Given the description of an element on the screen output the (x, y) to click on. 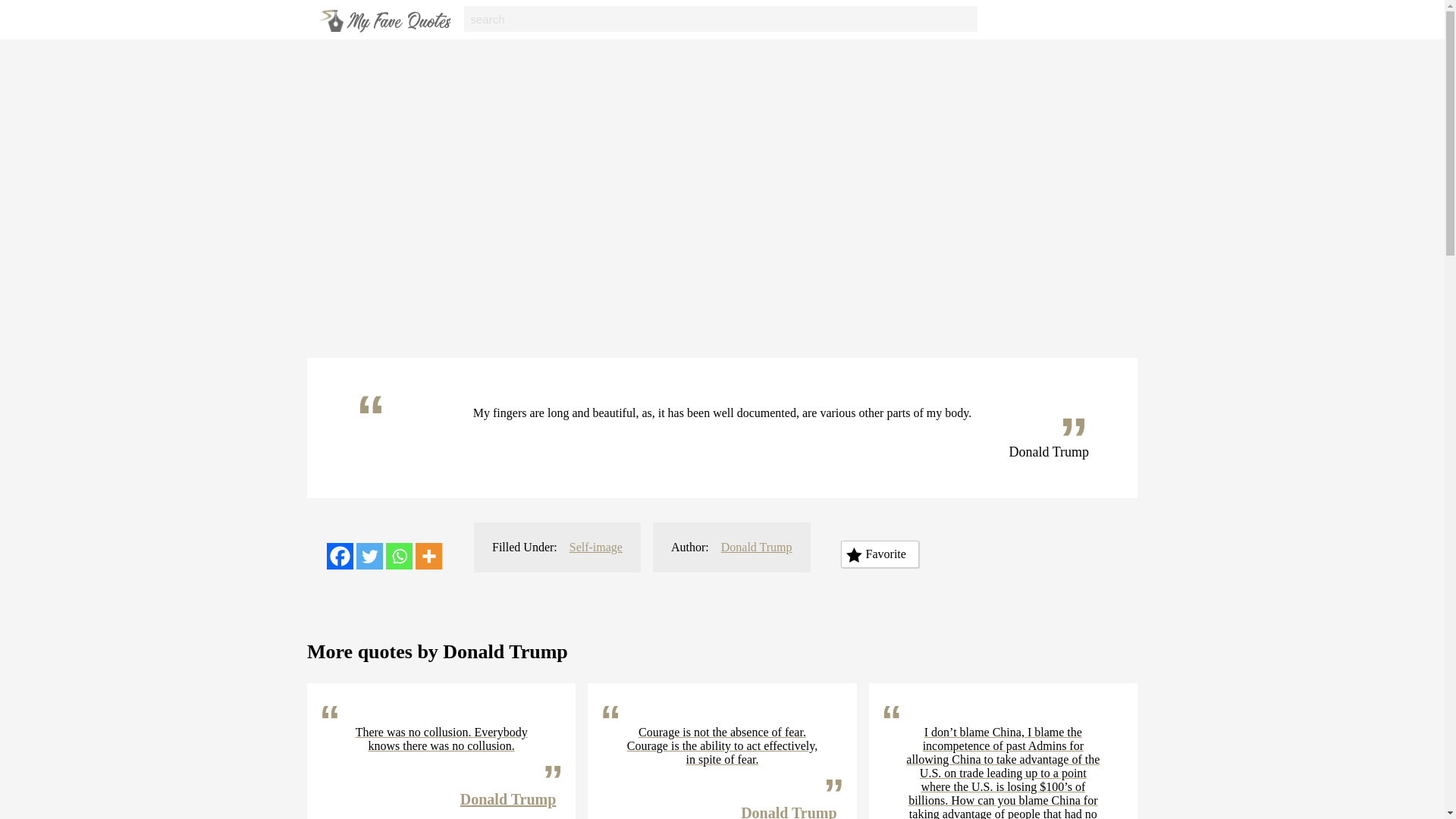
Self-image (596, 546)
Donald Trump (789, 811)
Twitter (369, 555)
Whatsapp (398, 555)
Facebook (339, 555)
Donald Trump (508, 799)
Donald Trump (756, 546)
More (428, 555)
